Given the description of an element on the screen output the (x, y) to click on. 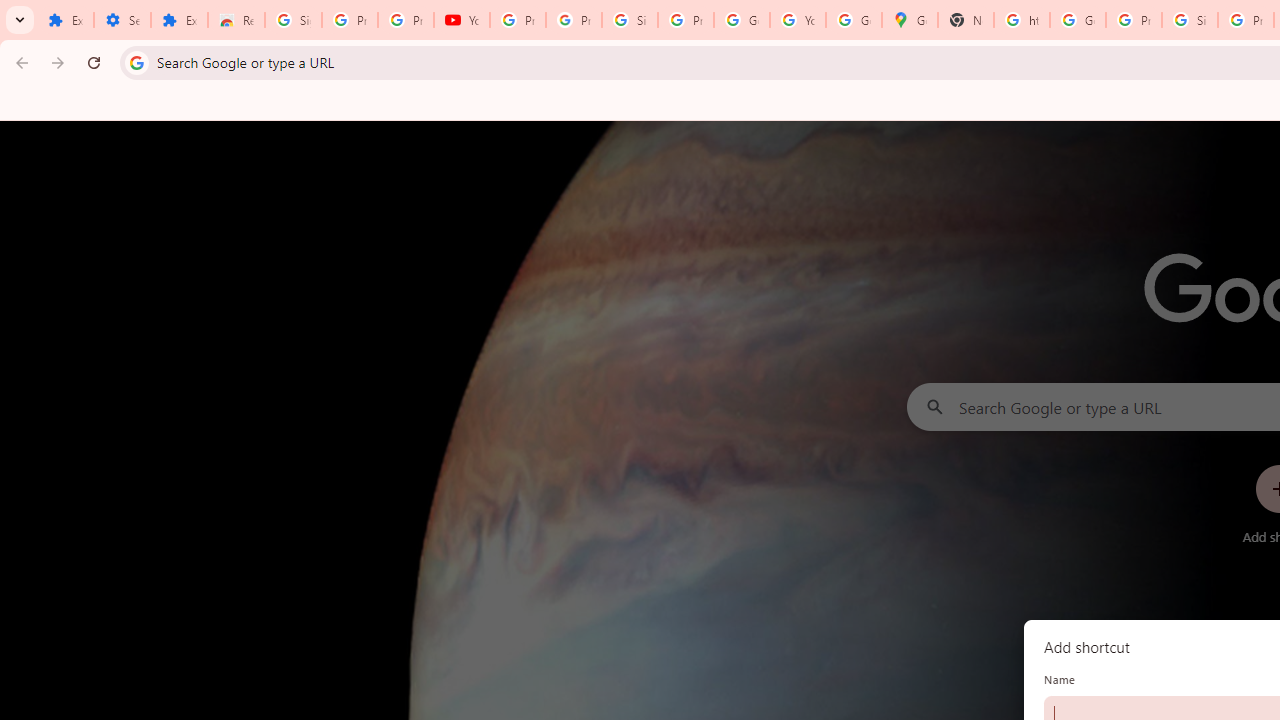
Search icon (136, 62)
Reviews: Helix Fruit Jump Arcade Game (235, 20)
Sign in - Google Accounts (629, 20)
YouTube (461, 20)
Extensions (179, 20)
YouTube (797, 20)
